Given the description of an element on the screen output the (x, y) to click on. 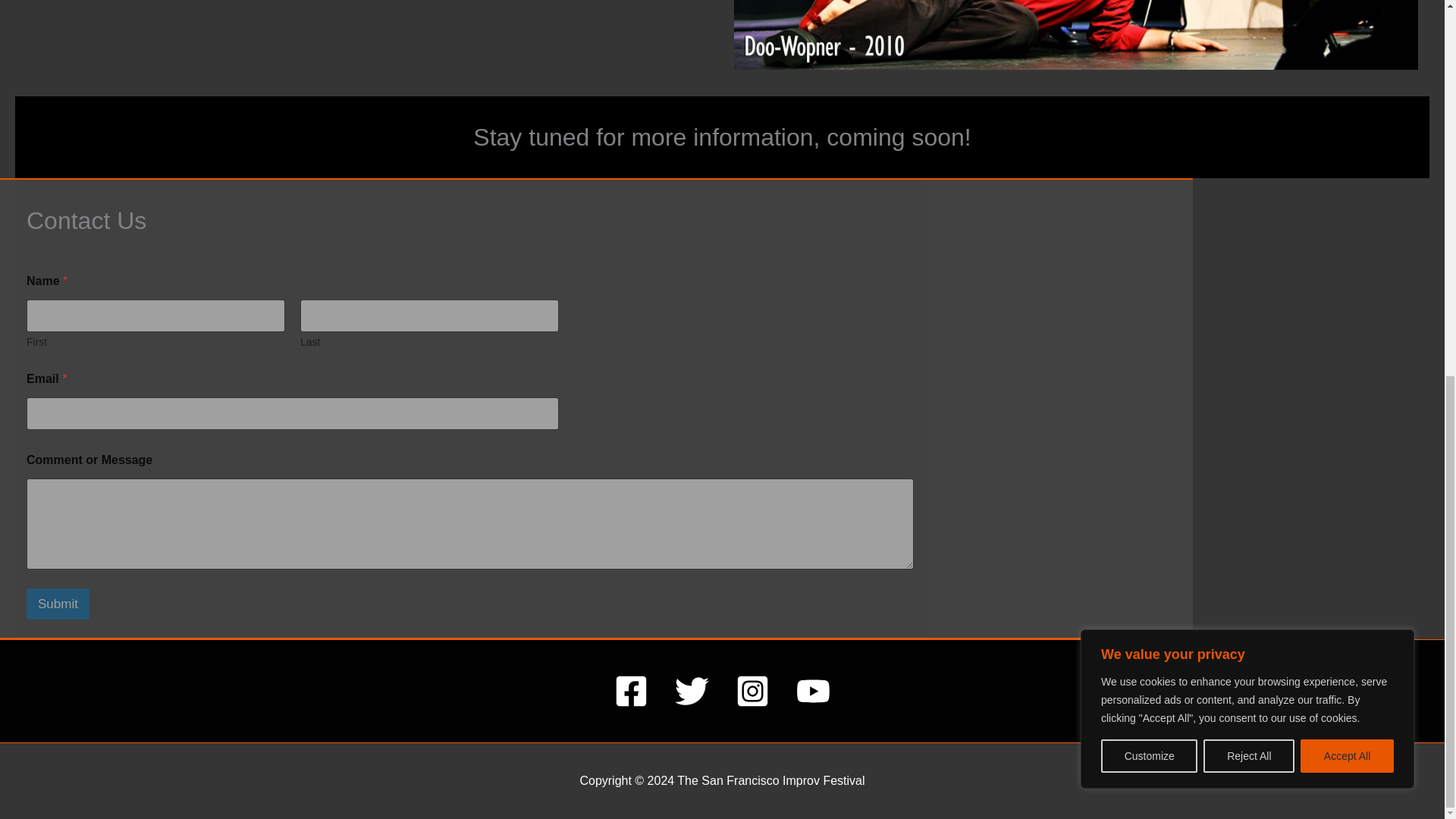
2010-doowopner (1075, 34)
Accept All (1346, 62)
Reject All (1249, 62)
Customize (1148, 62)
Submit (57, 603)
